Given the description of an element on the screen output the (x, y) to click on. 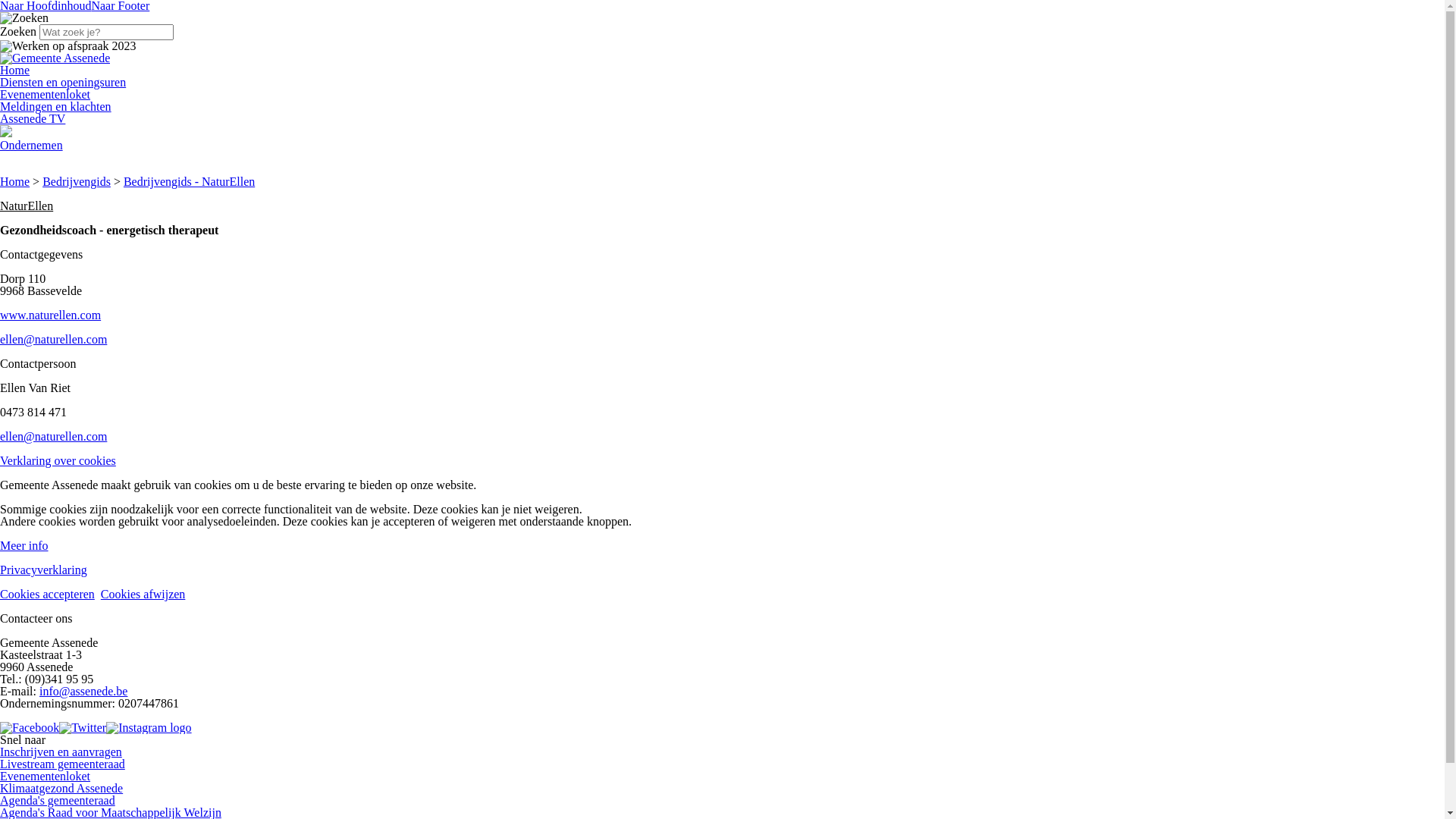
Gemeente Assenede Element type: hover (54, 58)
Bedrijvengids Element type: text (76, 181)
Diensten en openingsuren Element type: text (62, 81)
Home Element type: text (14, 181)
Verklaring over cookies Element type: text (58, 460)
Livestream gemeenteraad Element type: text (62, 763)
Assenede TV Element type: text (32, 118)
Klimaatgezond Assenede Element type: text (61, 787)
Instagram Element type: hover (148, 727)
Zoeken Element type: hover (24, 18)
Ondernemen Element type: text (31, 144)
Meer info Element type: text (24, 545)
Privacyverklaring Element type: text (43, 569)
Werken op afspraak 2023 Element type: hover (68, 46)
Agenda's gemeenteraad Element type: text (57, 799)
Evenementenloket Element type: text (45, 93)
Meldingen en klachten Element type: text (55, 106)
ellen@naturellen.com Element type: text (53, 338)
Home Element type: text (14, 69)
Inschrijven en aanvragen Element type: text (61, 751)
www.naturellen.com Element type: text (50, 314)
Facebook Element type: hover (29, 727)
Evenementenloket Element type: text (45, 775)
Twitter: @9960assenede Element type: hover (82, 727)
Cookies afwijzen Element type: text (142, 593)
ellen@naturellen.com Element type: text (53, 435)
Cookies accepteren Element type: text (47, 593)
info@assenede.be Element type: text (83, 690)
Bedrijvengids - NaturEllen Element type: text (188, 181)
